Given the description of an element on the screen output the (x, y) to click on. 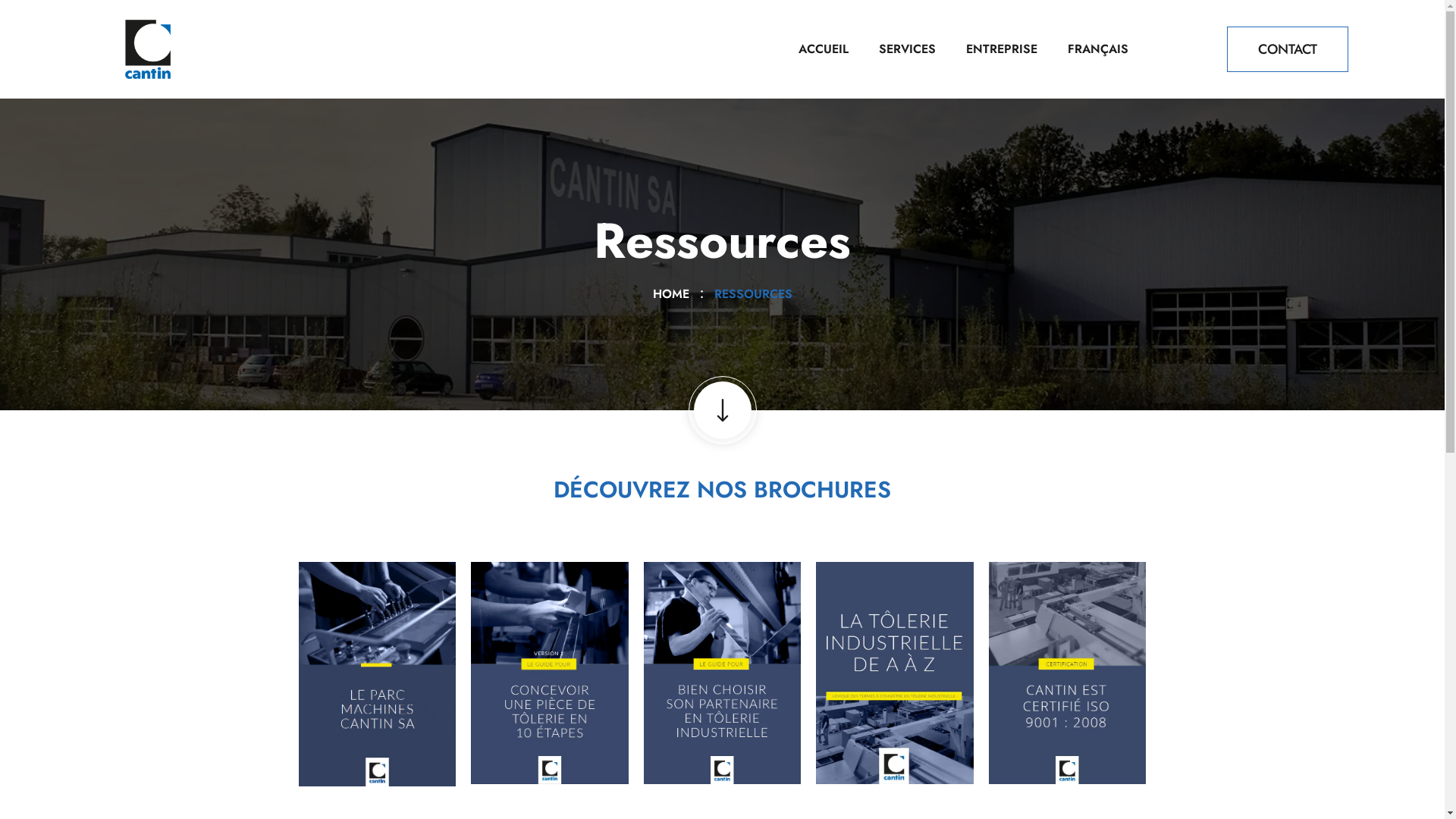
HOME   Element type: text (674, 293)
SERVICES Element type: text (906, 48)
ENTREPRISE Element type: text (1001, 48)
CONTACT Element type: text (1287, 49)
ACCUEIL Element type: text (823, 48)
